Given the description of an element on the screen output the (x, y) to click on. 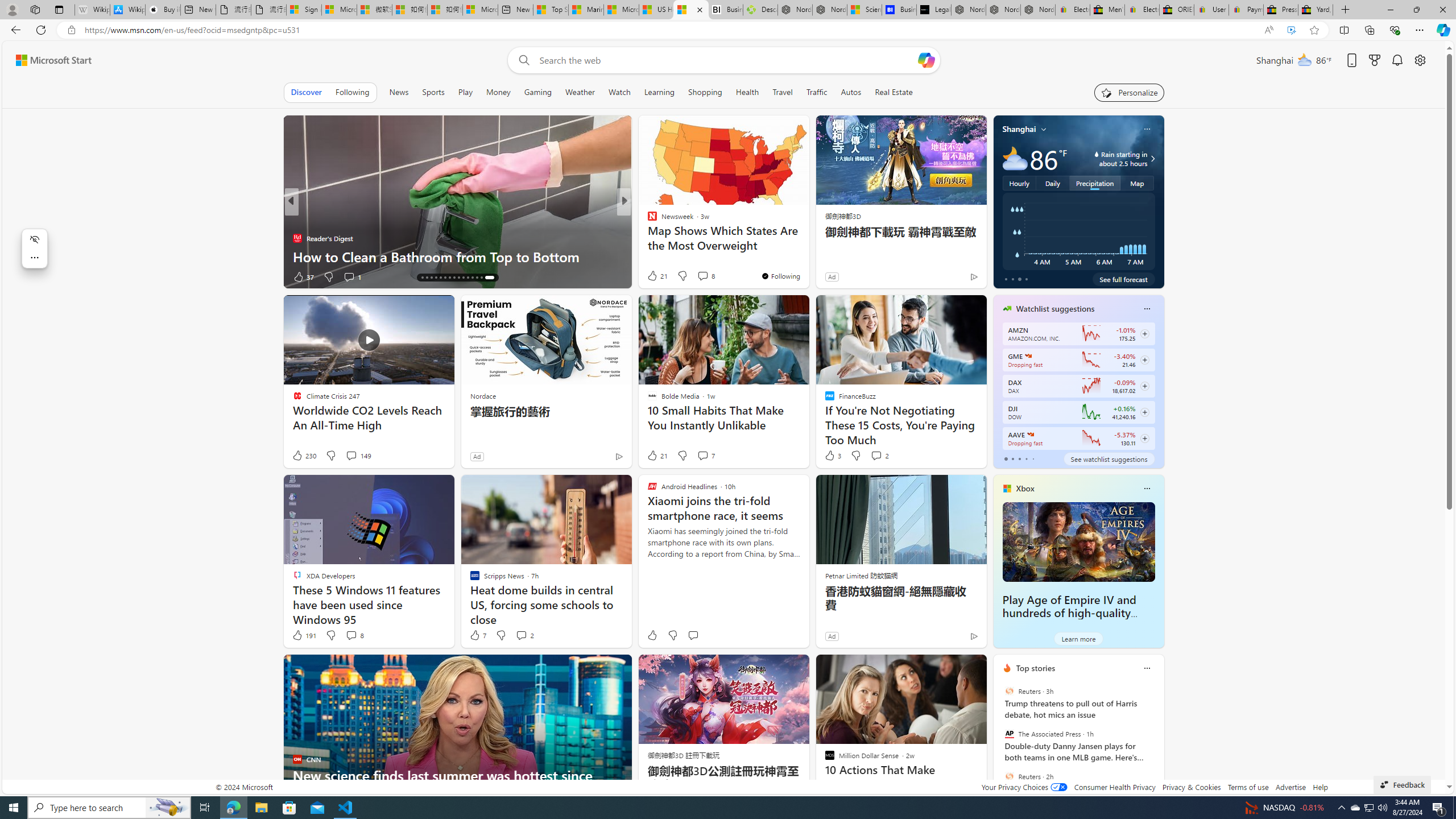
37 Like (652, 276)
See watchlist suggestions (1108, 459)
Like (652, 634)
Axios Login (647, 238)
View comments 8 Comment (350, 635)
next (1158, 741)
Aave (1029, 434)
View comments 18 Comment (703, 276)
Class: follow-button  m (1144, 438)
173 Like (654, 276)
More actions (33, 257)
Heat is deadly. Why does our culture push us to ignore it? (807, 247)
